Given the description of an element on the screen output the (x, y) to click on. 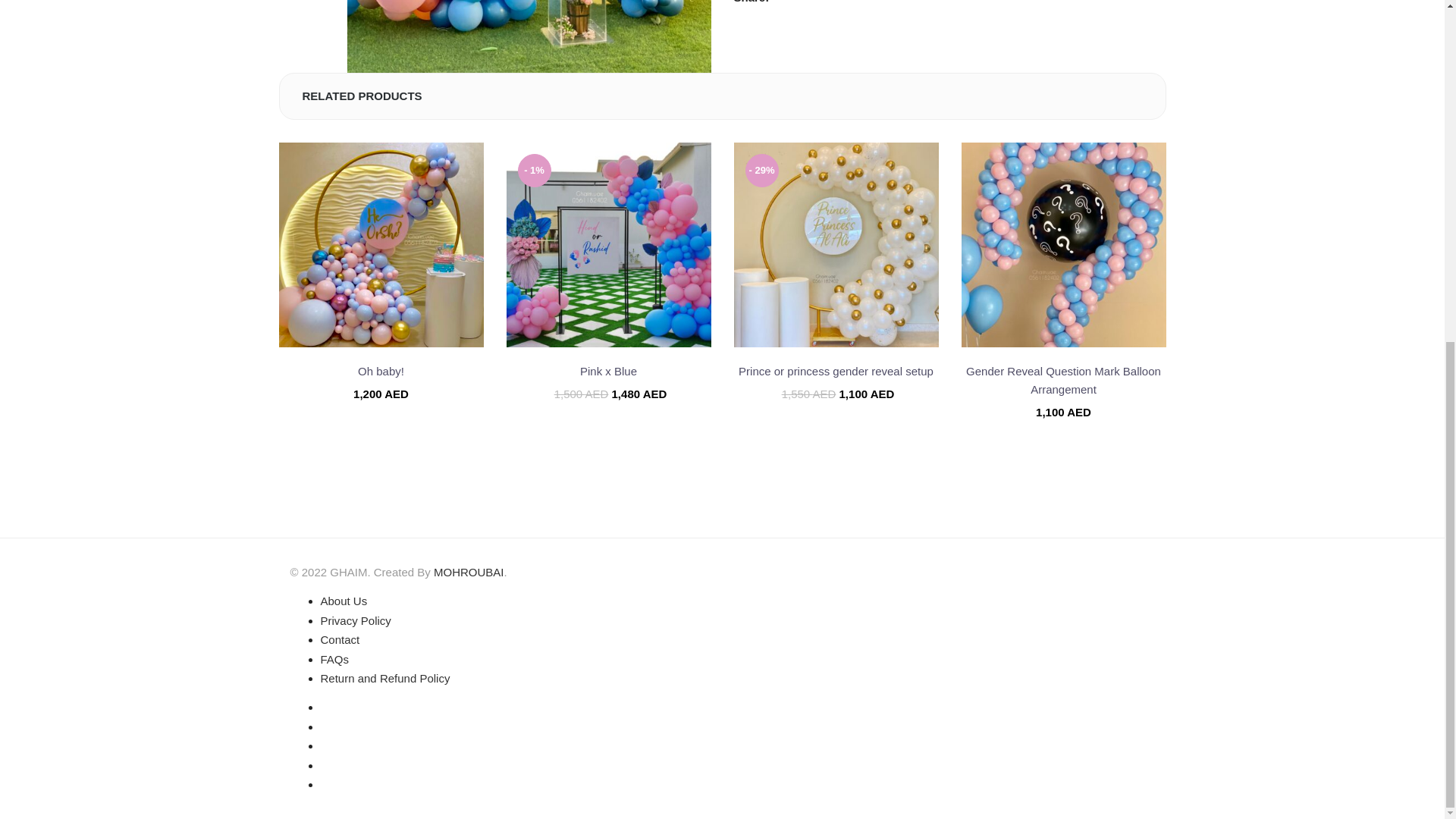
Pink x Blue (608, 244)
Oh baby! (381, 244)
Prince or princess gender reveal setup (836, 244)
